Given the description of an element on the screen output the (x, y) to click on. 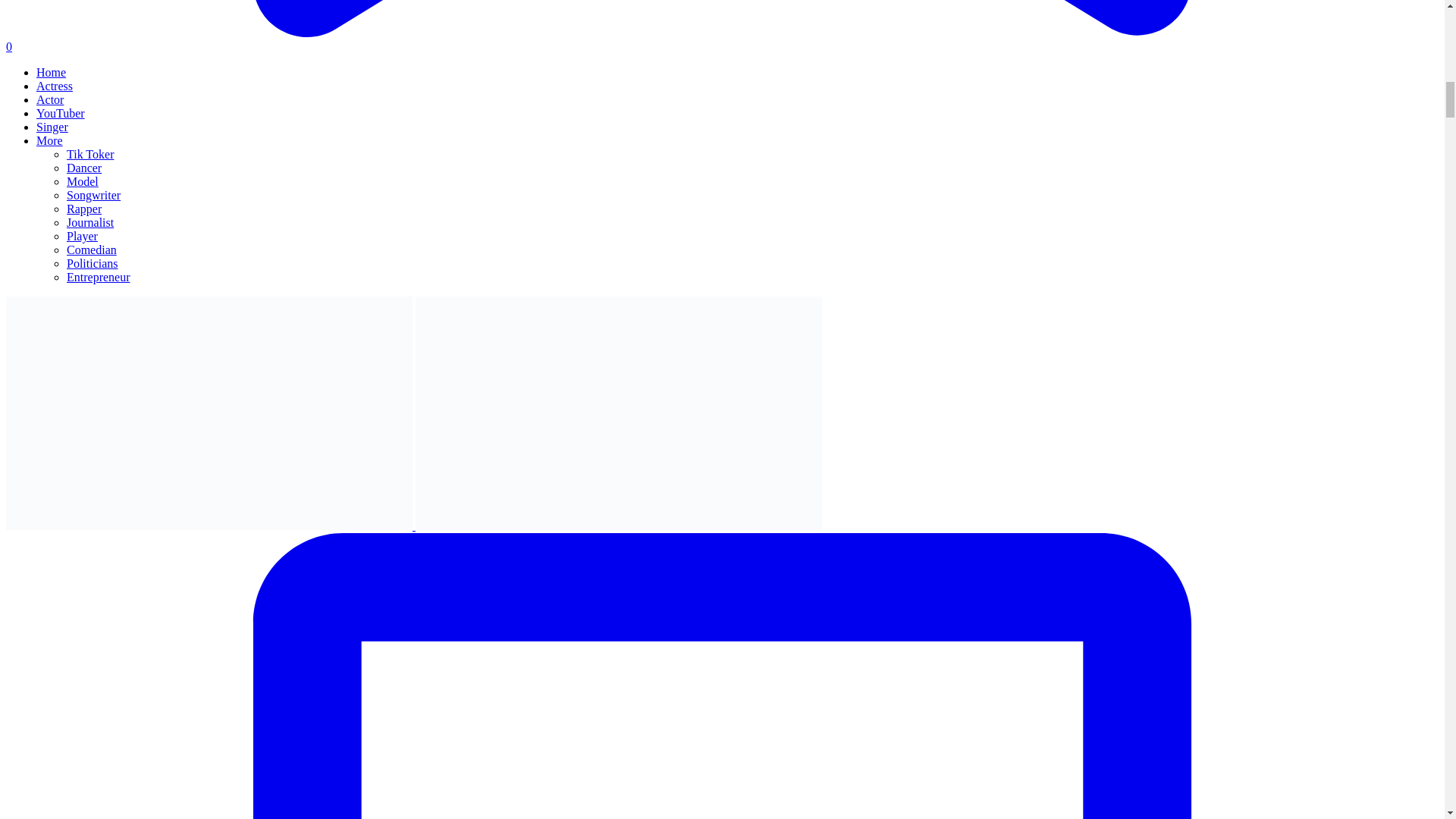
Journalist (89, 222)
Politicians (91, 263)
Tik Toker (89, 154)
Singer (52, 126)
YouTuber (60, 113)
Rapper (83, 208)
Dancer (83, 167)
Model (82, 181)
Entrepreneur (98, 277)
Songwriter (93, 195)
Player (81, 236)
More (49, 140)
Actress (54, 85)
Comedian (91, 249)
Home (50, 72)
